Given the description of an element on the screen output the (x, y) to click on. 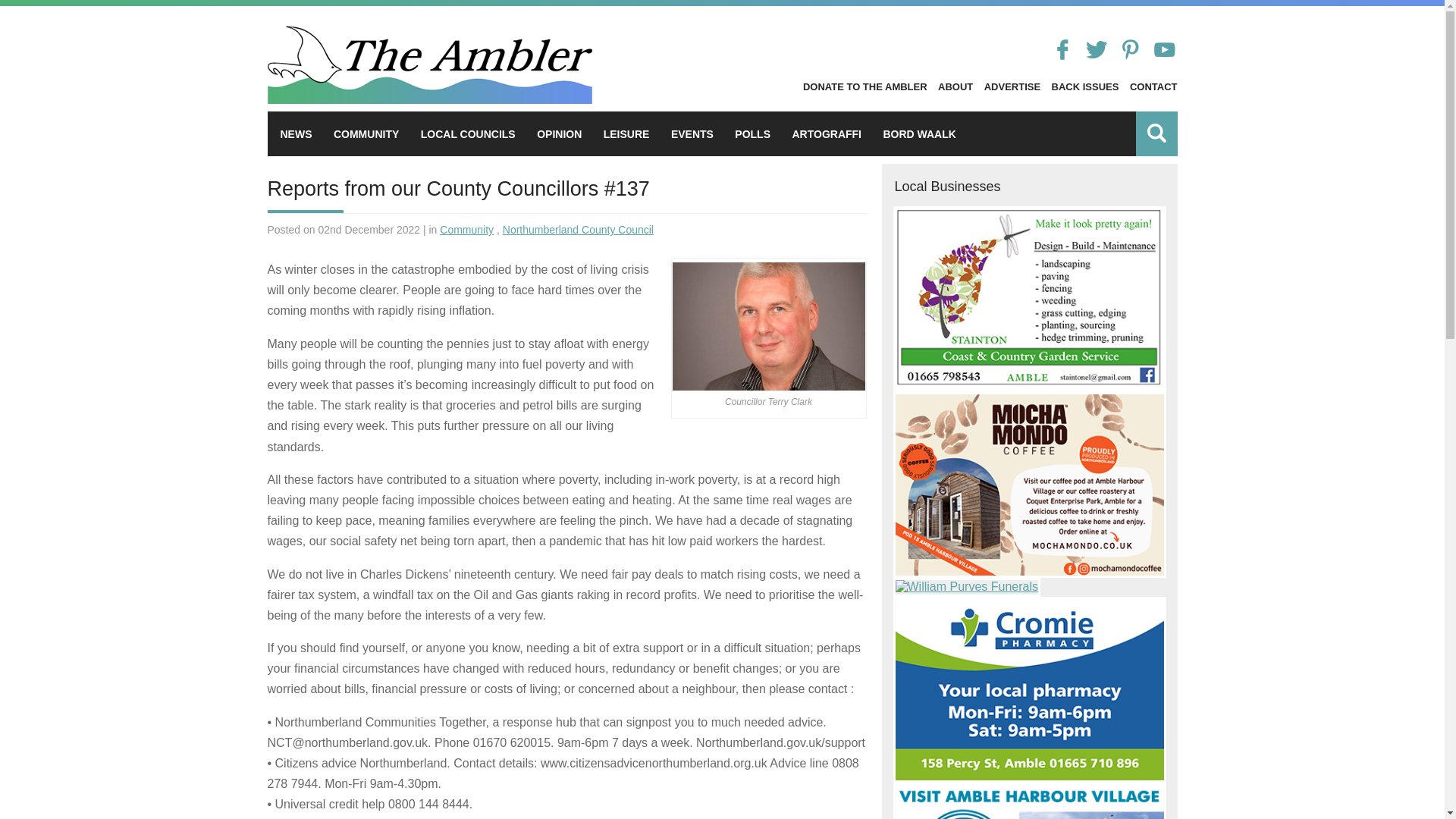
ABOUT (954, 86)
EVENTS (692, 133)
BACK ISSUES (1085, 86)
DONATE TO THE AMBLER (865, 86)
LEISURE (626, 133)
COMMUNITY (365, 133)
POLLS (752, 133)
CONTACT (1153, 86)
NEWS (297, 133)
BORD WAALK (918, 133)
